Given the description of an element on the screen output the (x, y) to click on. 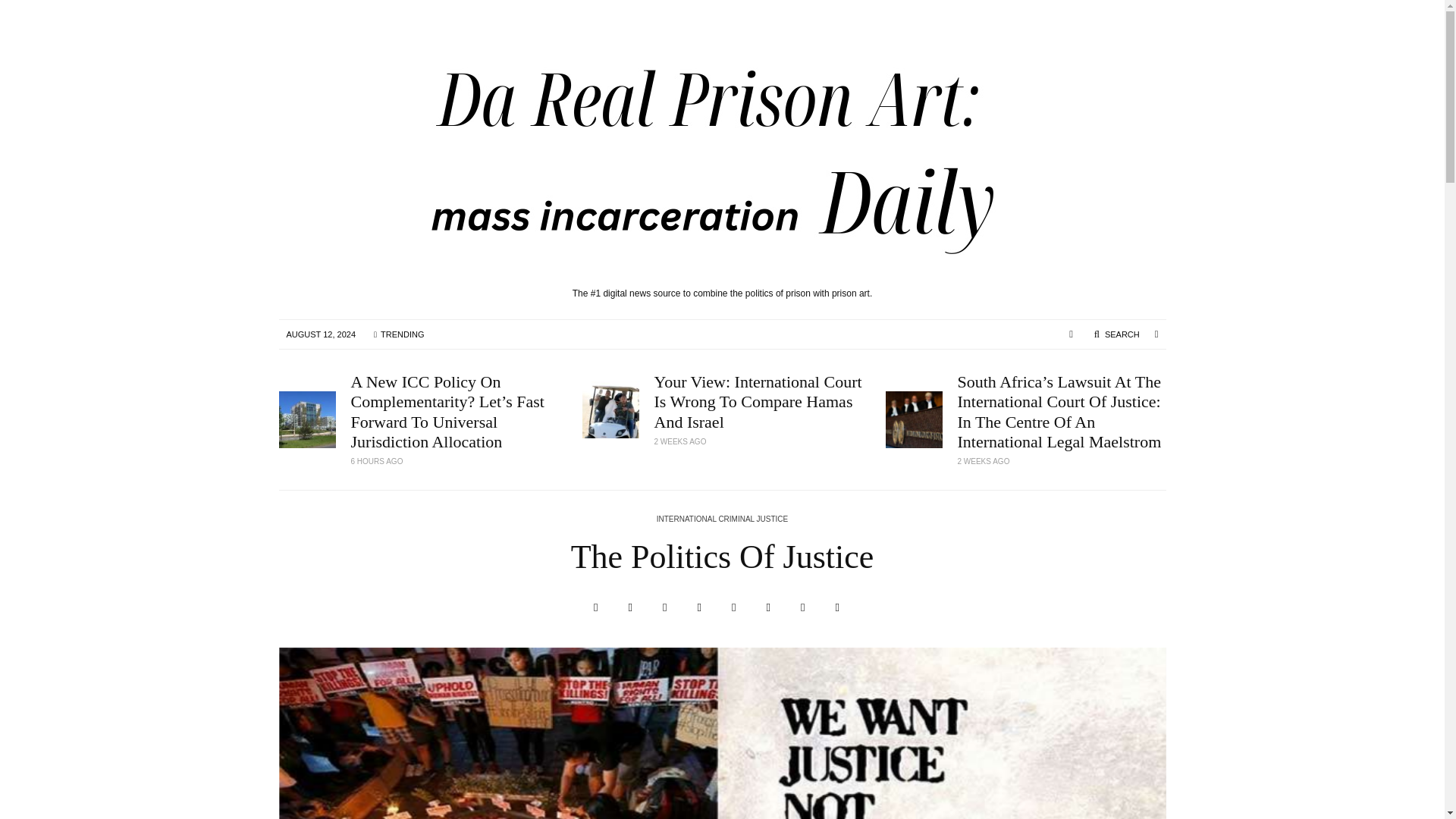
SEARCH (1116, 333)
TRENDING (397, 334)
INTERNATIONAL CRIMINAL JUSTICE (722, 519)
